Given the description of an element on the screen output the (x, y) to click on. 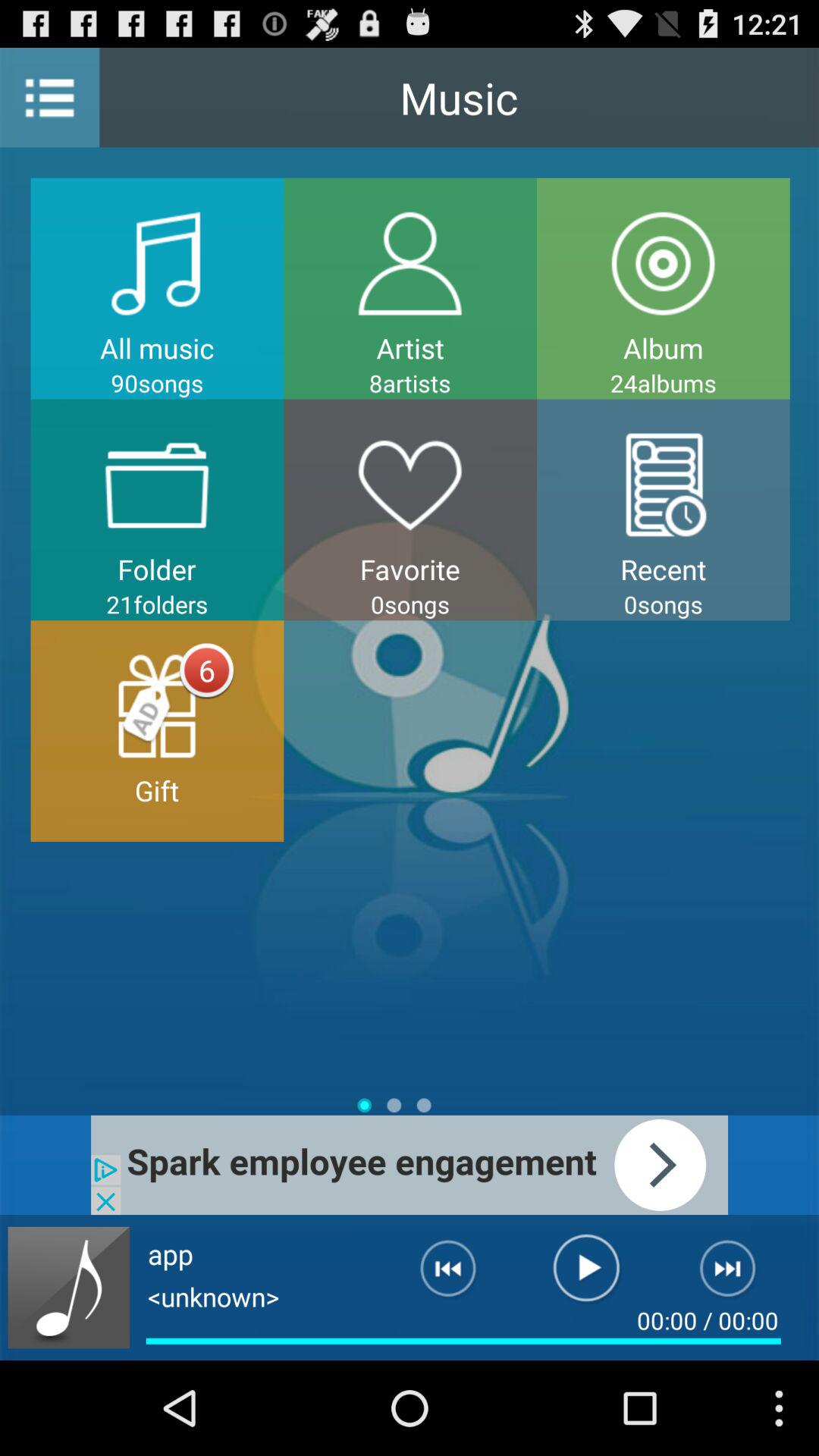
play (586, 1274)
